Given the description of an element on the screen output the (x, y) to click on. 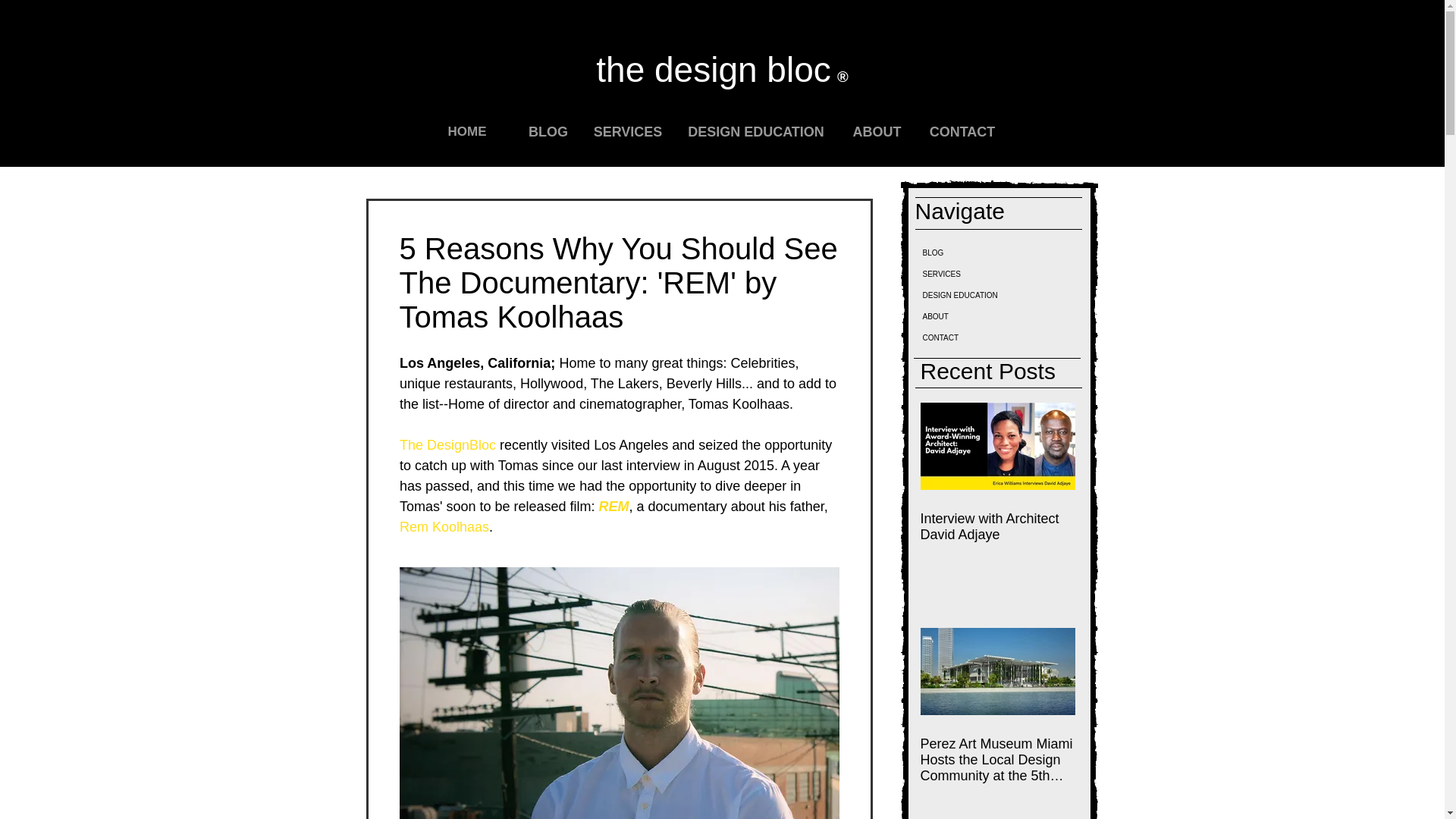
The DesignBloc (446, 444)
CONTACT (962, 130)
BLOG (546, 130)
ABOUT (876, 130)
REM (613, 506)
Rem Koolhaas (442, 526)
HOME (466, 131)
DESIGN EDUCATION (755, 130)
the design bloc  (716, 69)
SERVICES (628, 130)
